Given the description of an element on the screen output the (x, y) to click on. 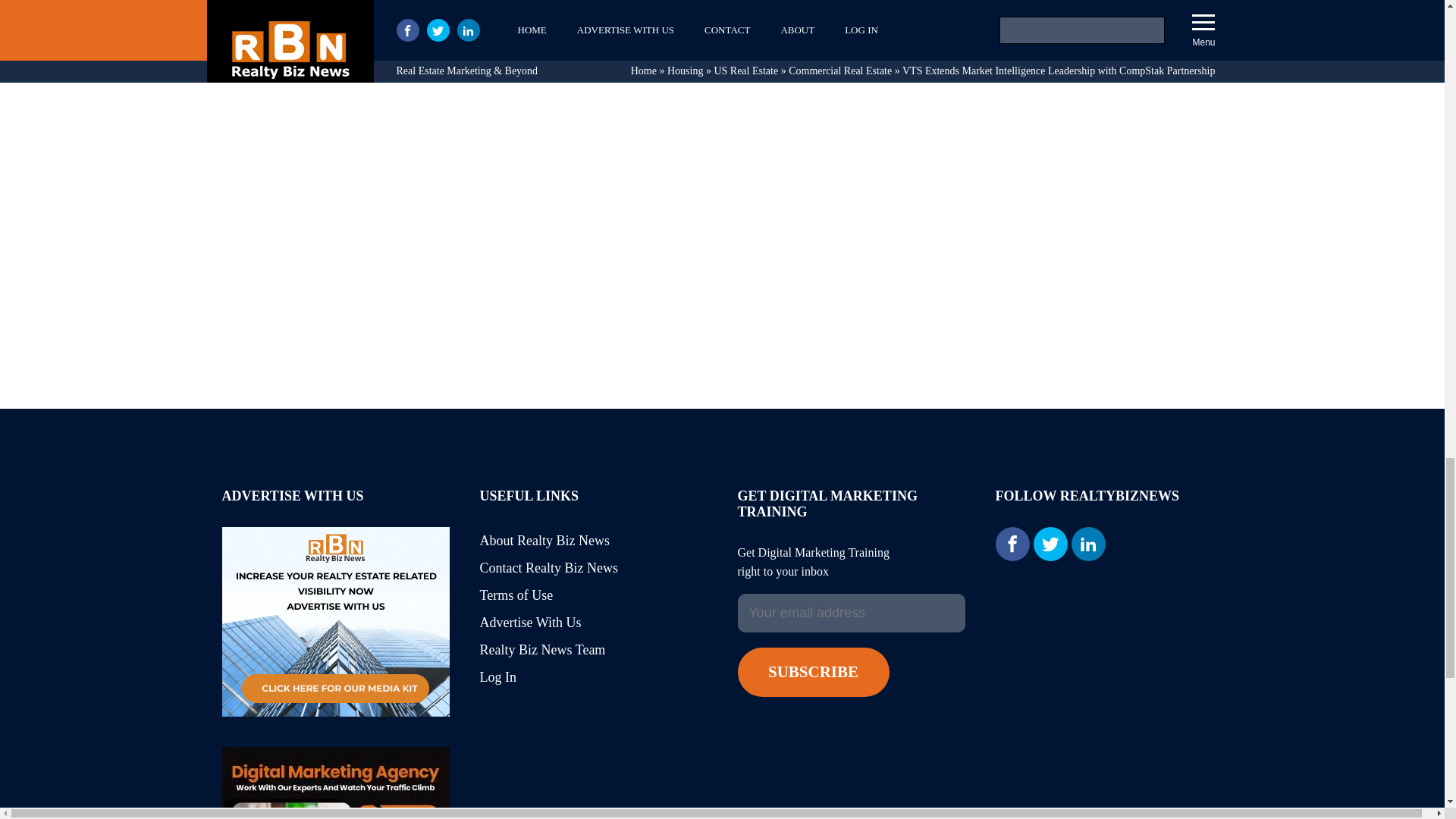
Advertisement (1108, 107)
Subscribe (812, 671)
